Given the description of an element on the screen output the (x, y) to click on. 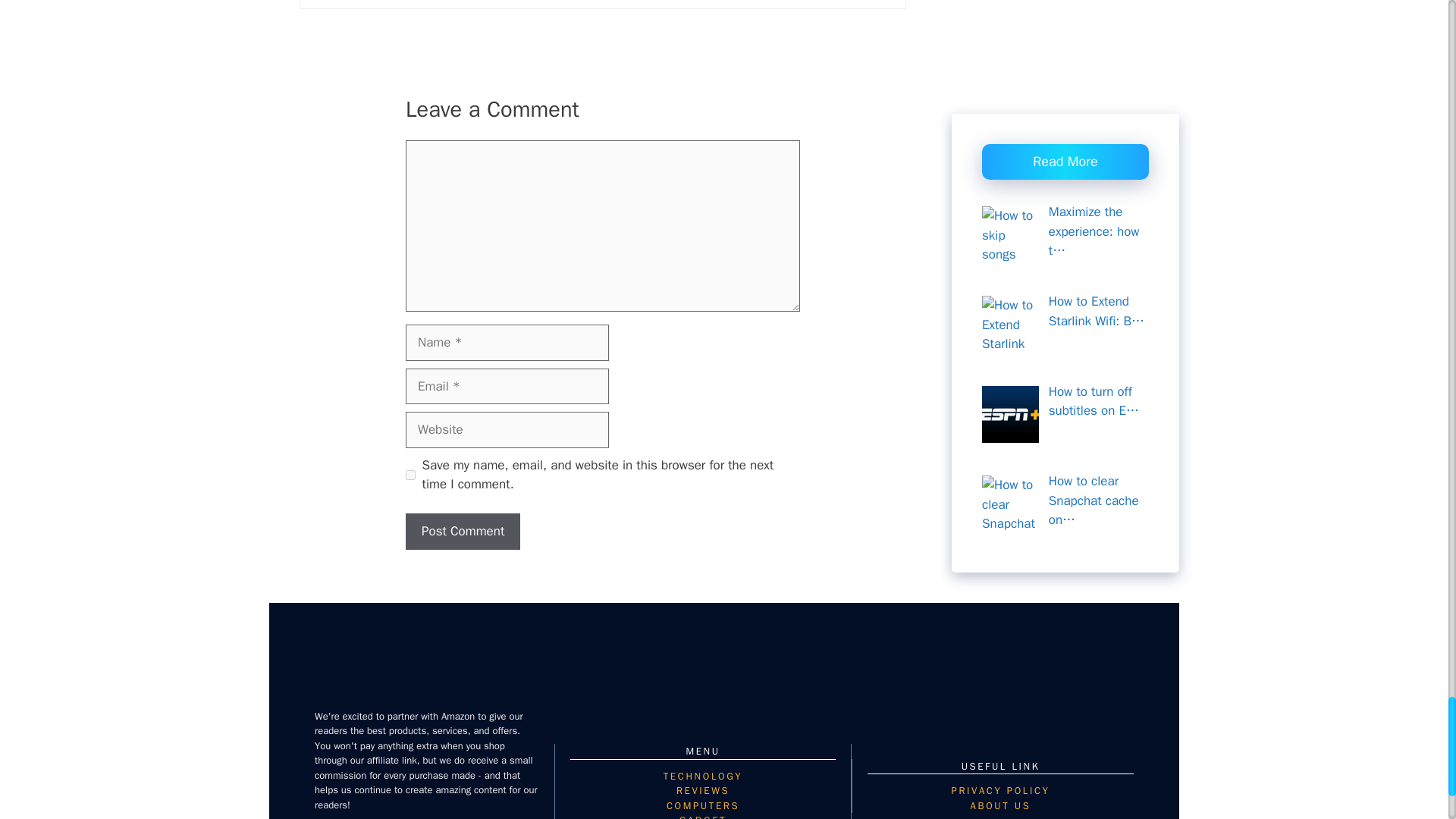
Post Comment (462, 531)
yes (410, 474)
